Given the description of an element on the screen output the (x, y) to click on. 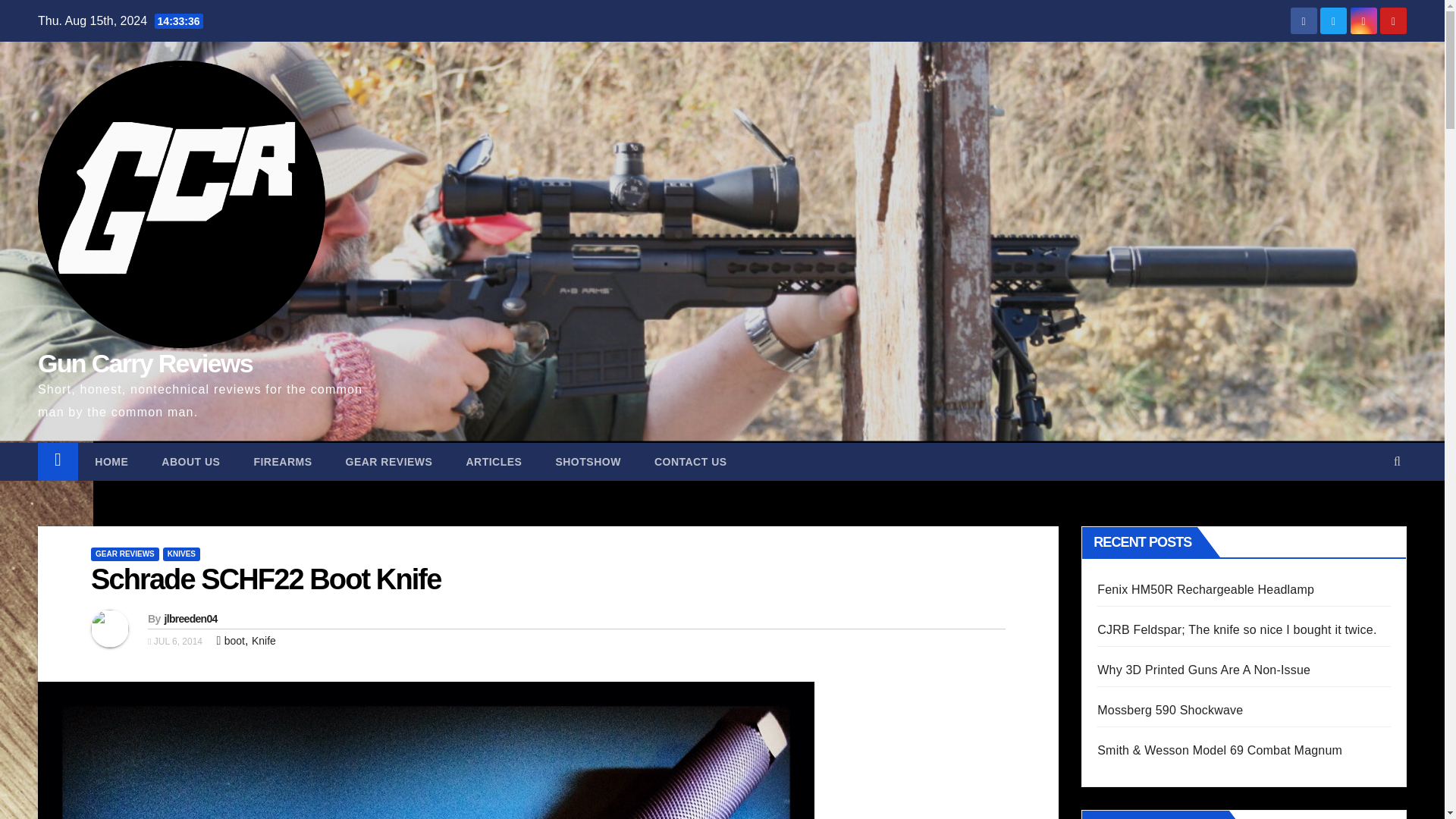
Knife (263, 640)
jlbreeden04 (189, 618)
SHOTSHOW (587, 461)
FIREARMS (282, 461)
GEAR REVIEWS (124, 554)
ABOUT US (189, 461)
HOME (111, 461)
GEAR REVIEWS (389, 461)
Permalink to: Schrade SCHF22 Boot Knife (265, 579)
Schrade SCHF22 Boot Knife (265, 579)
